Given the description of an element on the screen output the (x, y) to click on. 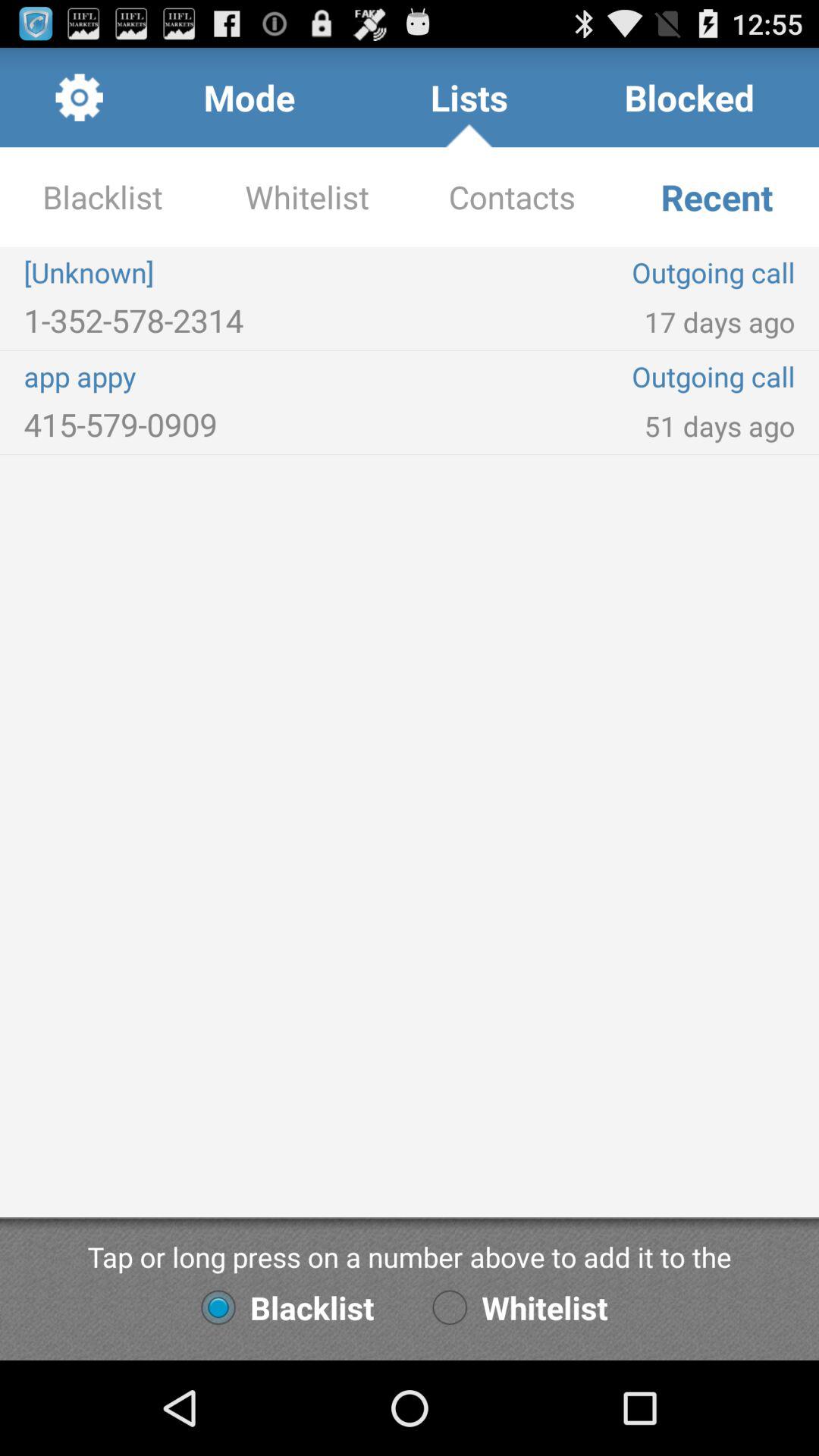
select app to the left of mode item (79, 97)
